Given the description of an element on the screen output the (x, y) to click on. 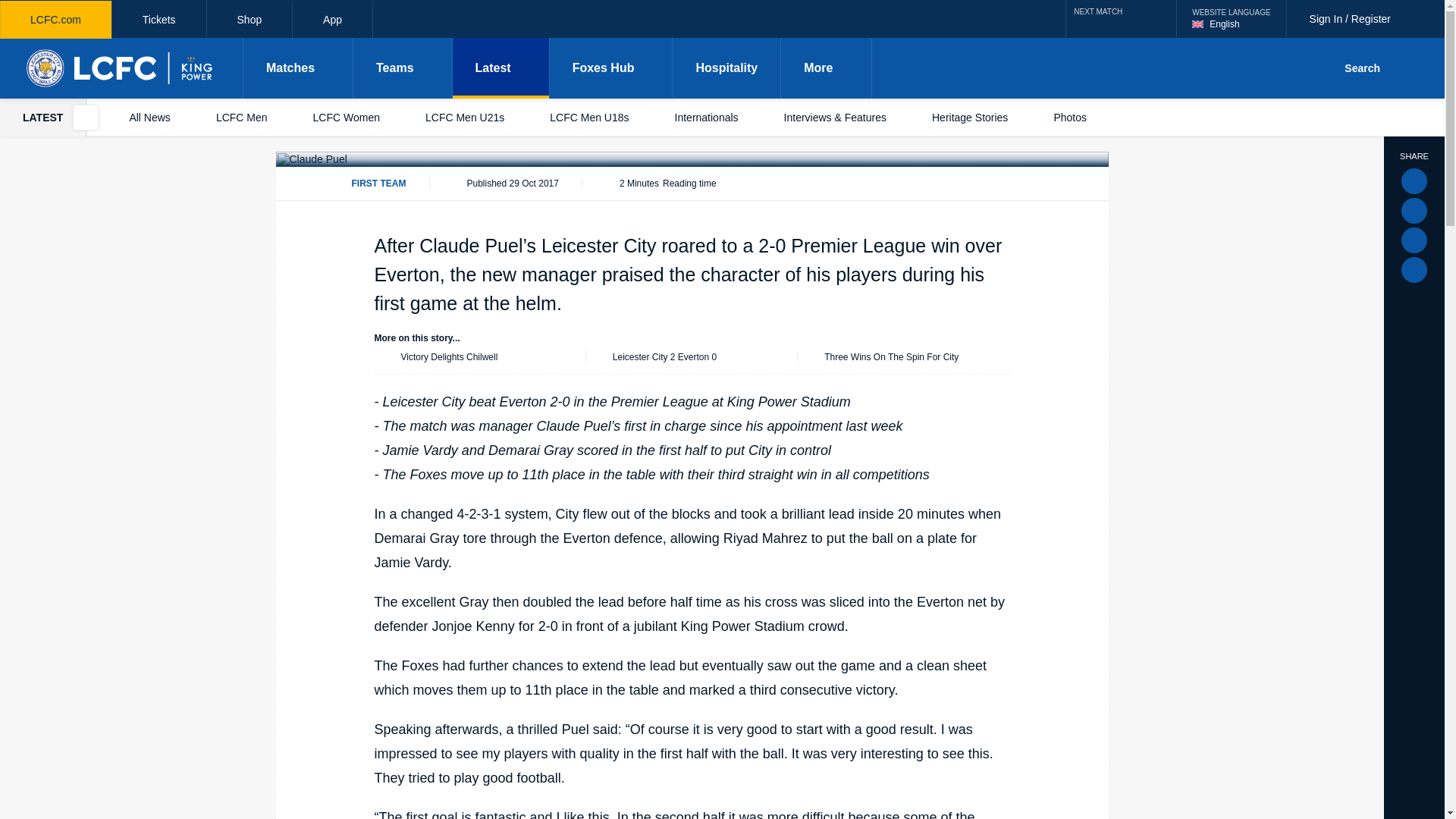
Home (121, 67)
LCFC.com (1230, 18)
NEXT MATCH (56, 19)
App (1120, 18)
Shop (332, 19)
Tickets (249, 19)
